Given the description of an element on the screen output the (x, y) to click on. 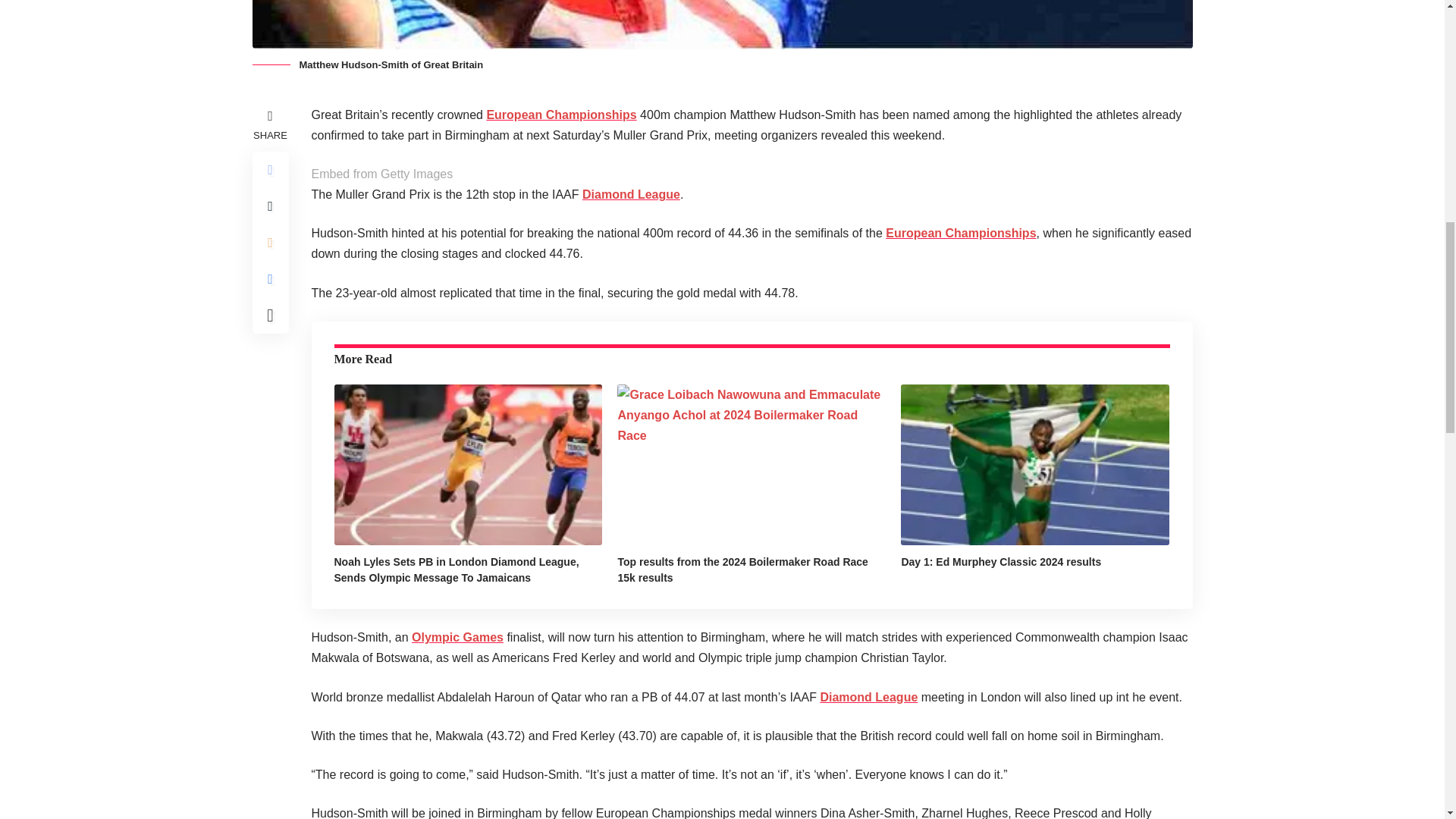
Day 1: Ed Murphey Classic 2024 results (1035, 464)
Top results from the 2024 Boilermaker Road Race 15k results (751, 464)
